Given the description of an element on the screen output the (x, y) to click on. 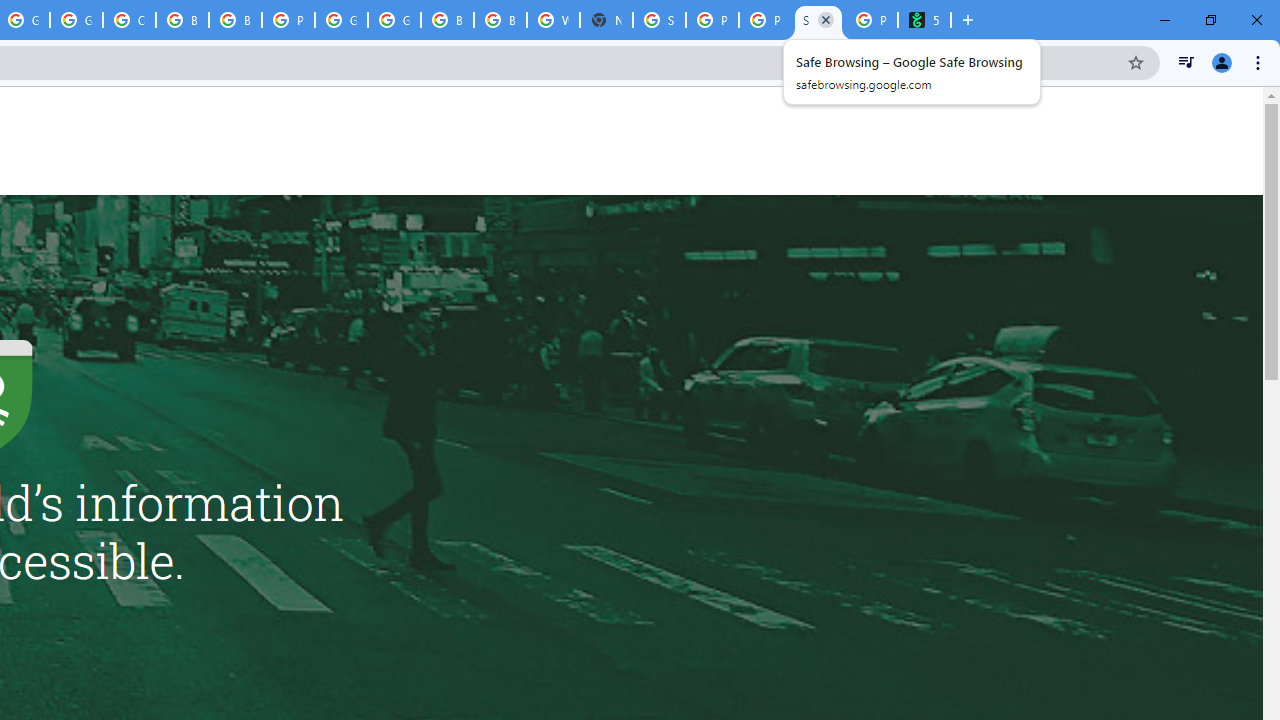
Browse Chrome as a guest - Computer - Google Chrome Help (182, 20)
